Given the description of an element on the screen output the (x, y) to click on. 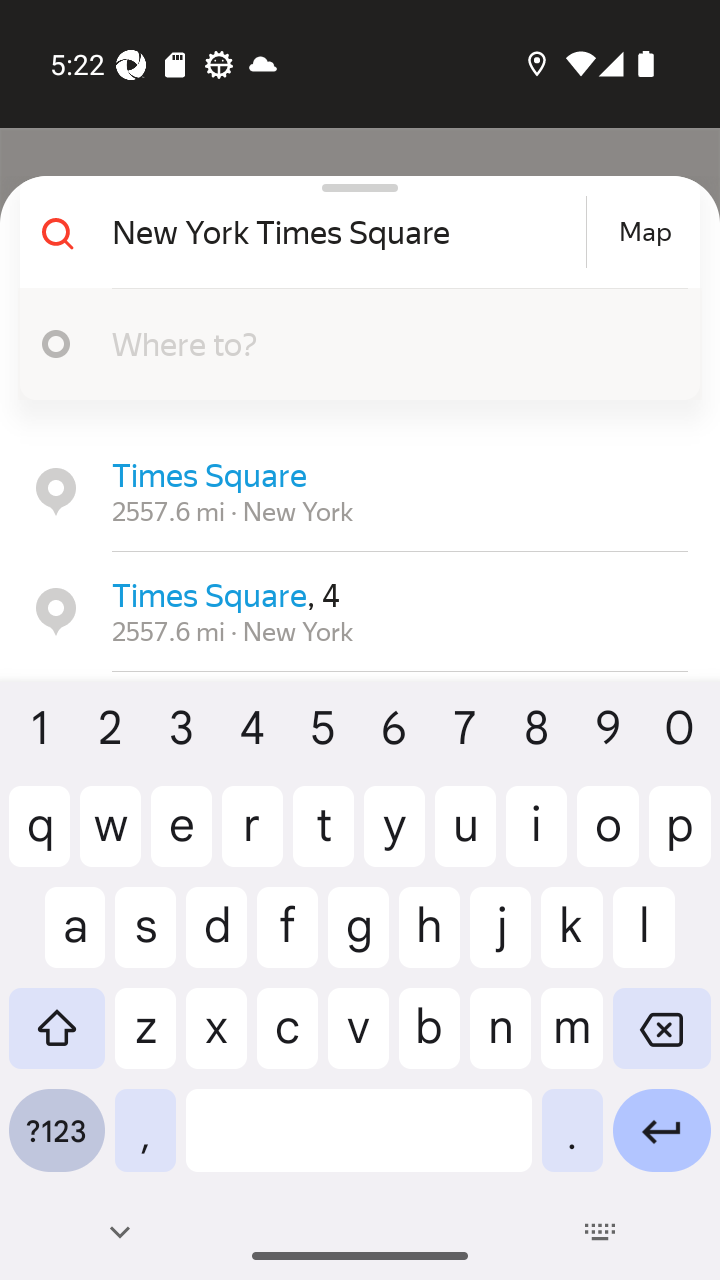
New York Times Square Map Map (352, 232)
Map (645, 232)
New York Times Square (346, 232)
Where to? (352, 343)
Where to? (390, 343)
